Given the description of an element on the screen output the (x, y) to click on. 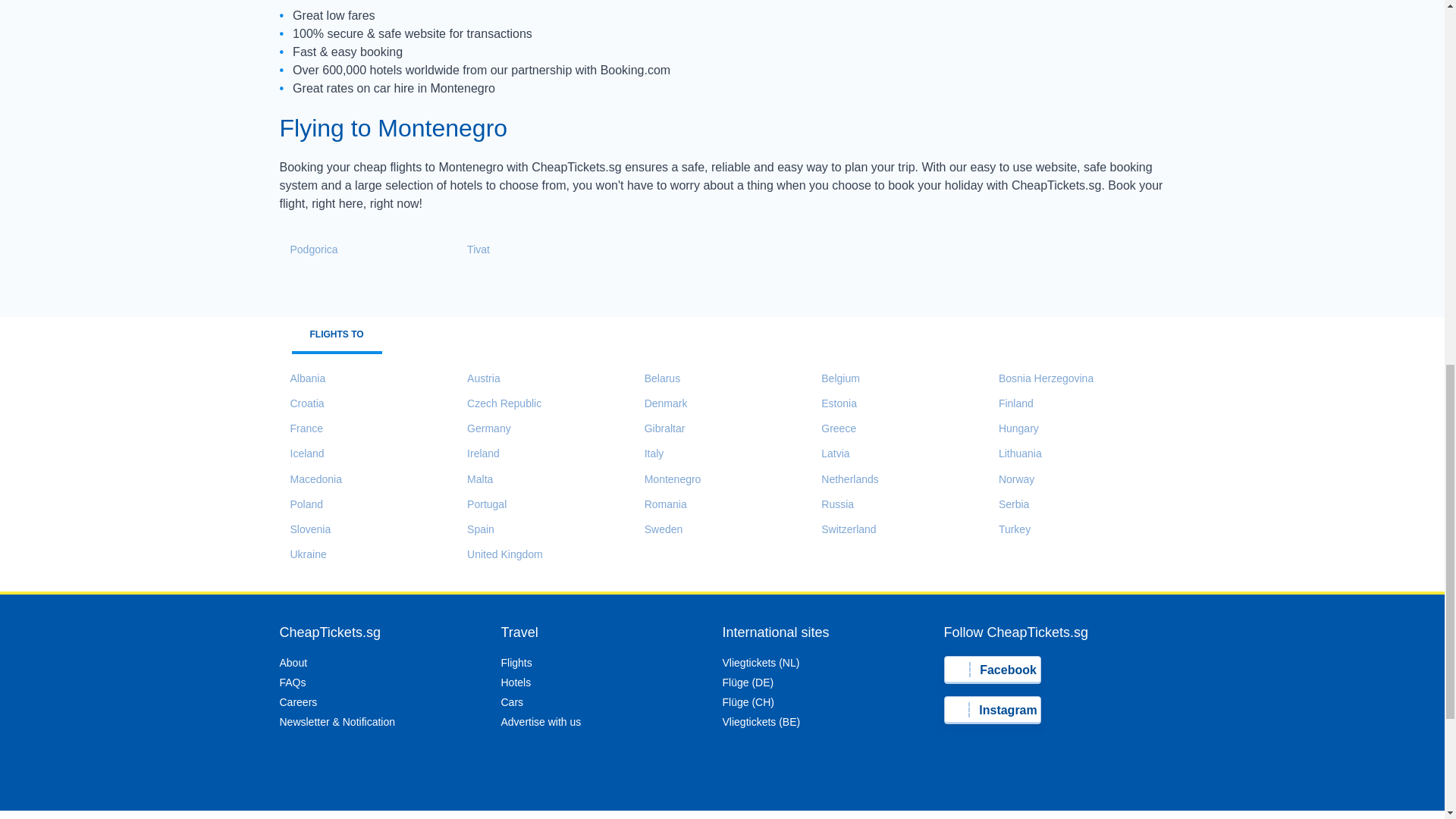
Belgium (835, 378)
Montenegro (667, 479)
Latvia (829, 453)
Russia (831, 504)
Tivat (473, 249)
Belarus (656, 378)
Norway (1010, 479)
Lithuania (1015, 453)
Slovenia (304, 529)
Germany (484, 428)
